Given the description of an element on the screen output the (x, y) to click on. 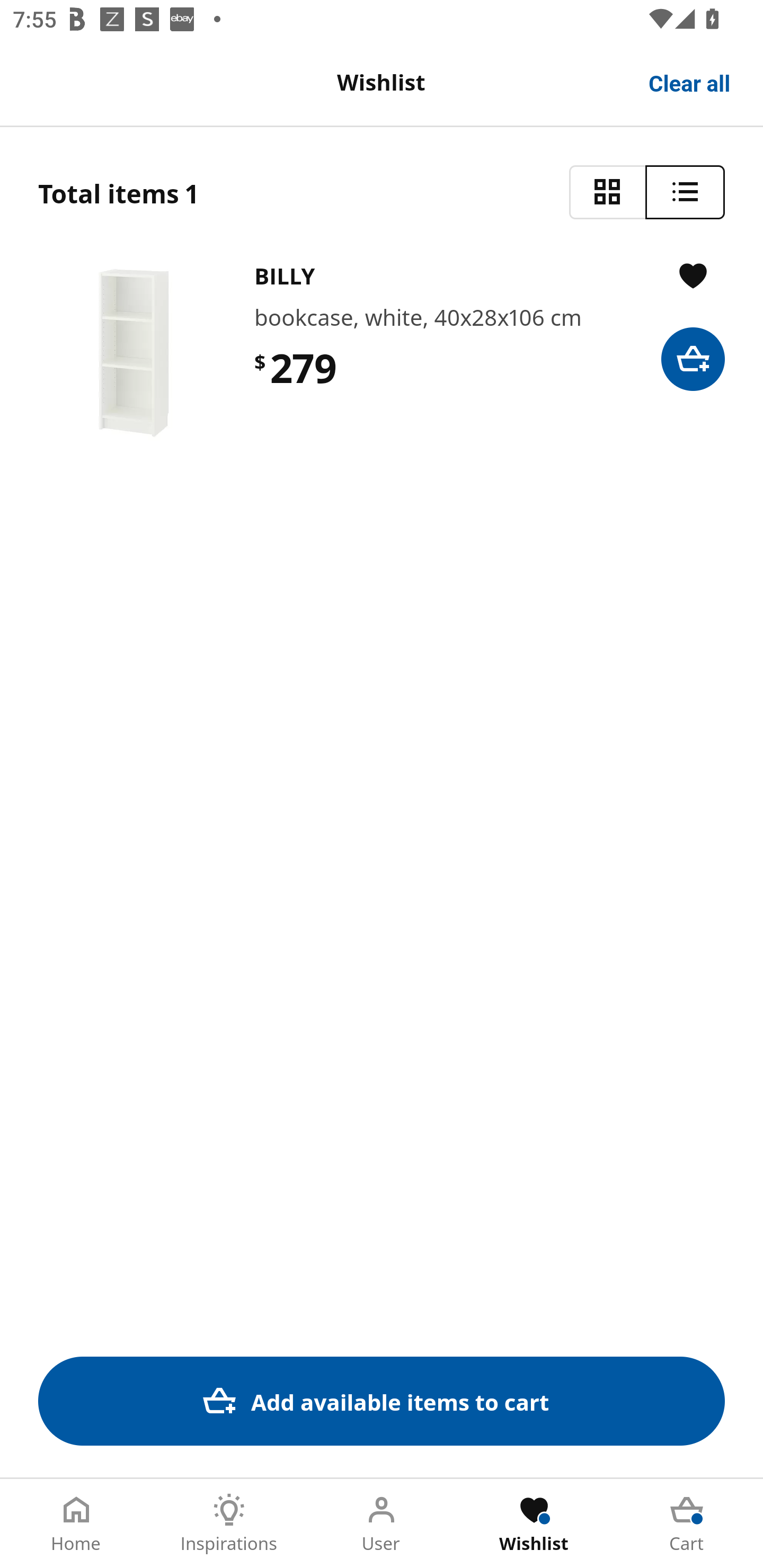
Clear all (689, 81)
​B​I​L​L​Y​
bookcase, white, 40x28x106 cm
$
279 (381, 352)
Add available items to cart (381, 1400)
Home
Tab 1 of 5 (76, 1522)
Inspirations
Tab 2 of 5 (228, 1522)
User
Tab 3 of 5 (381, 1522)
Wishlist
Tab 4 of 5 (533, 1522)
Cart
Tab 5 of 5 (686, 1522)
